Given the description of an element on the screen output the (x, y) to click on. 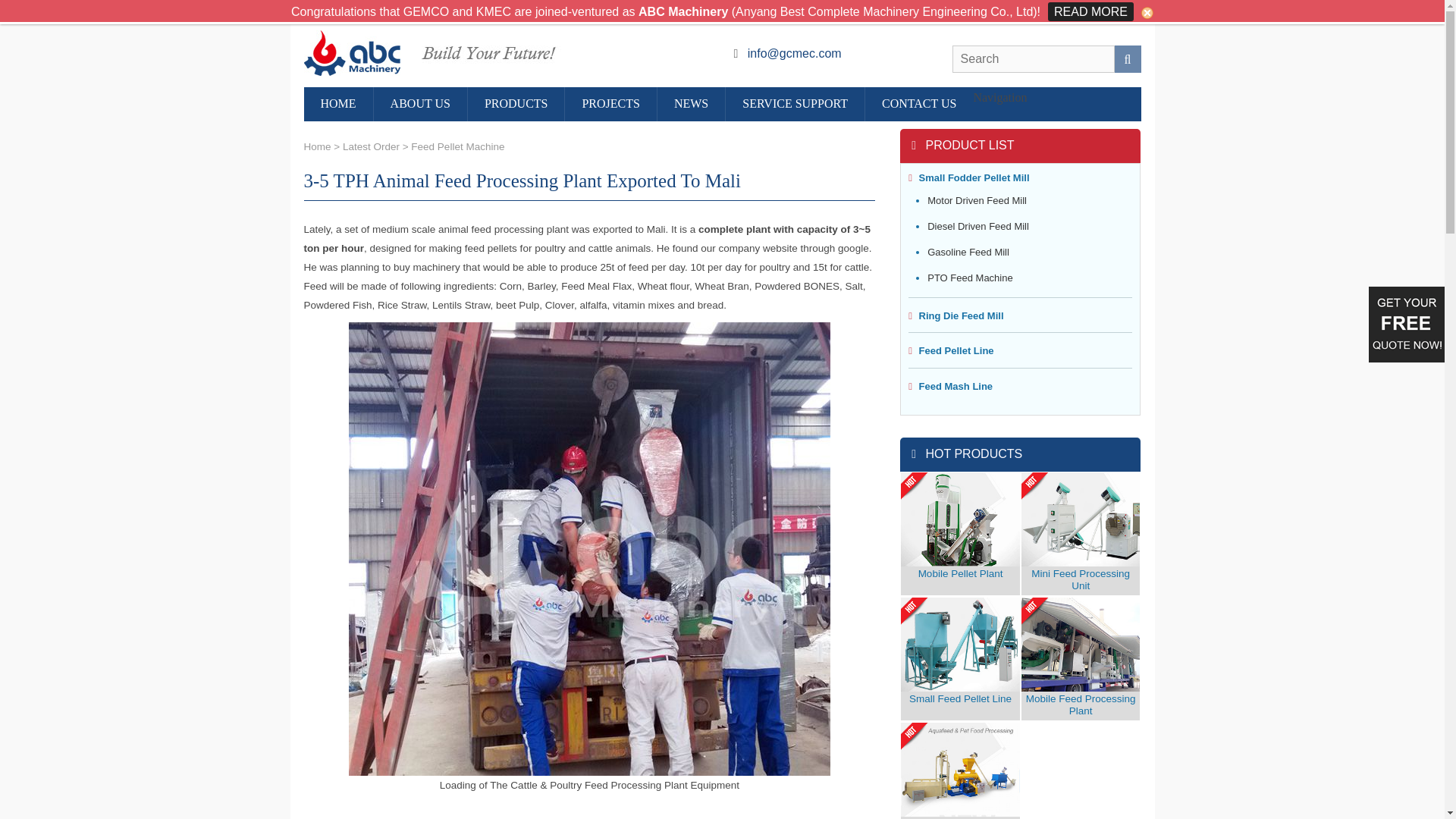
Latest Order (370, 146)
Home (316, 146)
PRODUCTS (515, 103)
Mini Feed Processing Unit (1081, 580)
Feed Mash Line (950, 386)
Diesel Driven Feed Mill (978, 225)
HOME (337, 103)
Feed Pellet Line (950, 350)
PROJECTS (610, 103)
Small Fodder Pellet Mill (968, 177)
